Given the description of an element on the screen output the (x, y) to click on. 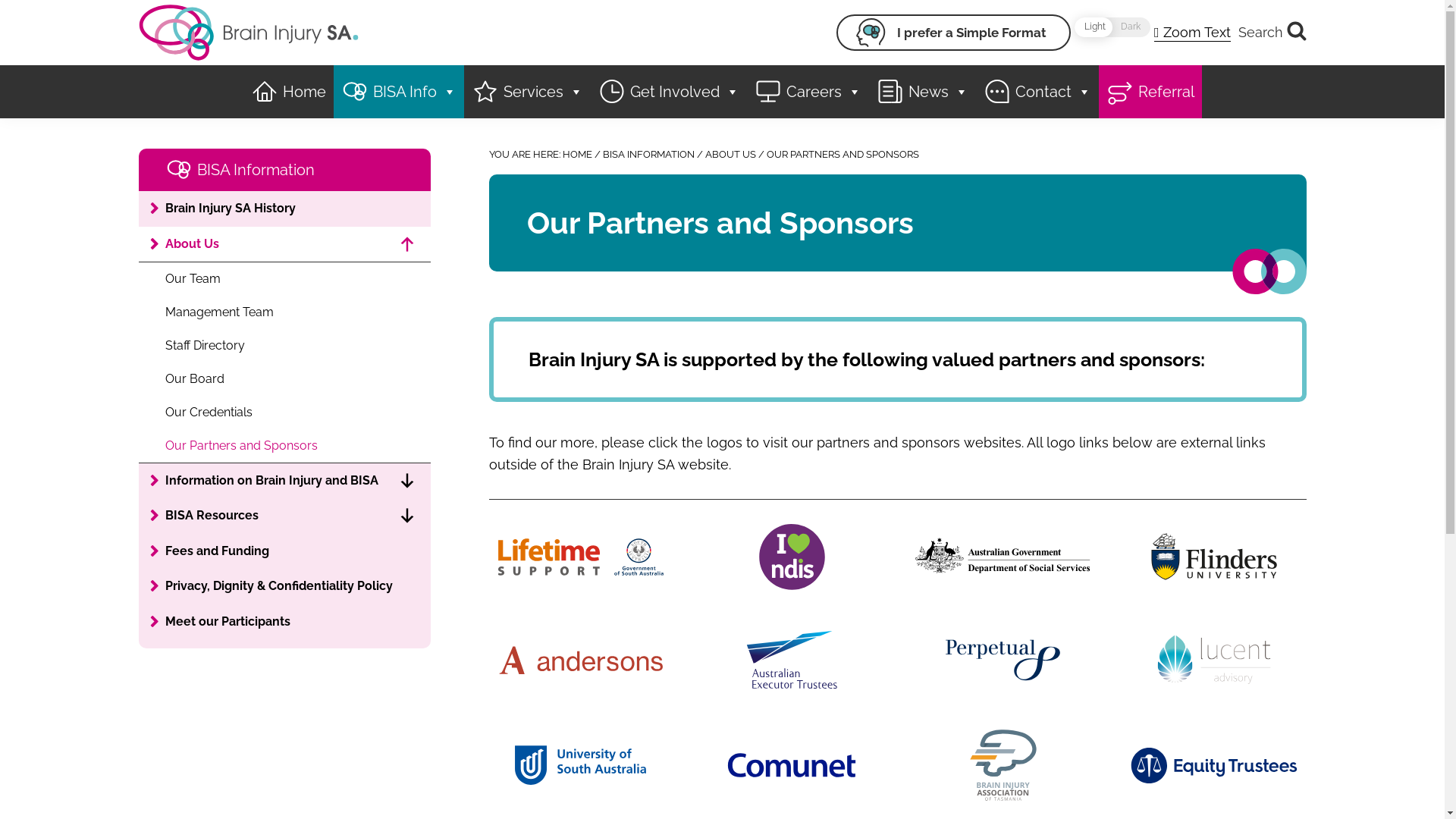
BISA INFORMATION Element type: text (647, 154)
Privacy, Dignity & Confidentiality Policy Element type: text (283, 585)
Meet our Participants Element type: text (283, 621)
Information on Brain Injury and BISA Element type: text (283, 480)
About Us Element type: text (283, 243)
Management Team Element type: text (283, 312)
BISA Resources Element type: text (283, 515)
Our Board Element type: text (283, 378)
Our Credentials Element type: text (283, 412)
ABOUT US Element type: text (730, 154)
Our Team Element type: text (283, 278)
Get Involved Element type: text (667, 91)
Careers Element type: text (807, 91)
Services Element type: text (527, 91)
Home Element type: text (287, 91)
News Element type: text (922, 91)
Contact Element type: text (1036, 91)
Skip to primary navigation Element type: text (0, 0)
Brain Injury SA History Element type: text (283, 208)
I prefer a Simple Format Element type: text (953, 32)
Our Partners and Sponsors Element type: text (283, 445)
Referral Element type: text (1149, 91)
HOME Element type: text (577, 154)
Search Element type: text (1271, 32)
BISA Information Element type: text (283, 169)
Staff Directory Element type: text (283, 345)
Zoom Text Element type: text (1192, 32)
Fees and Funding Element type: text (283, 550)
BISA Info Element type: text (398, 91)
